Given the description of an element on the screen output the (x, y) to click on. 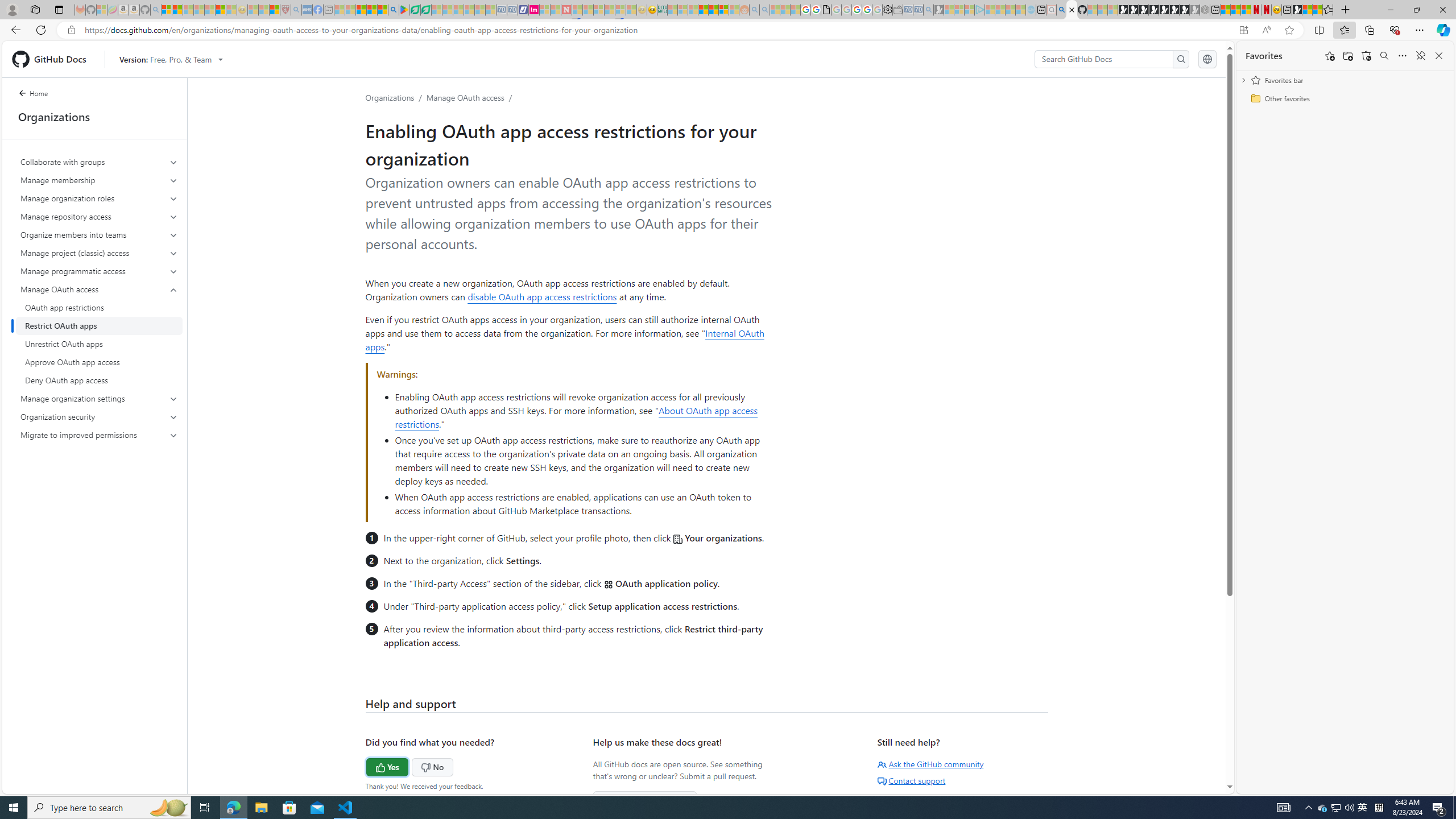
2Next to the organization, click Settings. (578, 560)
list of asthma inhalers uk - Search - Sleeping (296, 9)
Microsoft Start - Sleeping (1010, 9)
google - Search (392, 9)
Organize members into teams (99, 235)
Personal Profile (12, 9)
Migrate to improved permissions (99, 434)
Trusted Community Engagement and Contributions | Guidelines (577, 9)
Wallet - Sleeping (897, 9)
Manage OAuth access/ (471, 97)
